Given the description of an element on the screen output the (x, y) to click on. 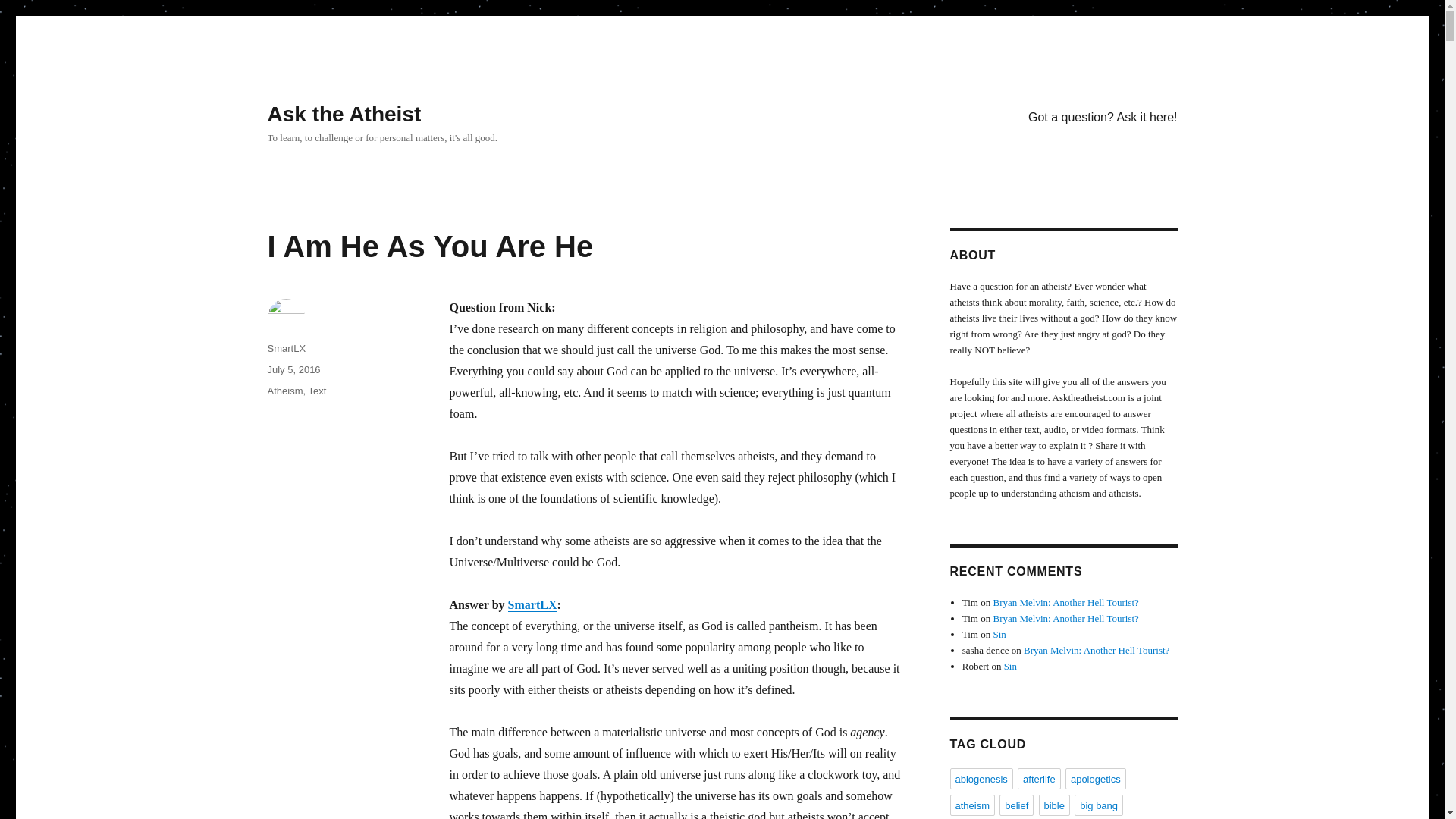
July 5, 2016 (293, 369)
Text (316, 390)
Ask the Atheist (343, 114)
SmartLX (532, 604)
Atheism (284, 390)
Got a question? Ask it here! (1102, 116)
SmartLX (285, 348)
